Given the description of an element on the screen output the (x, y) to click on. 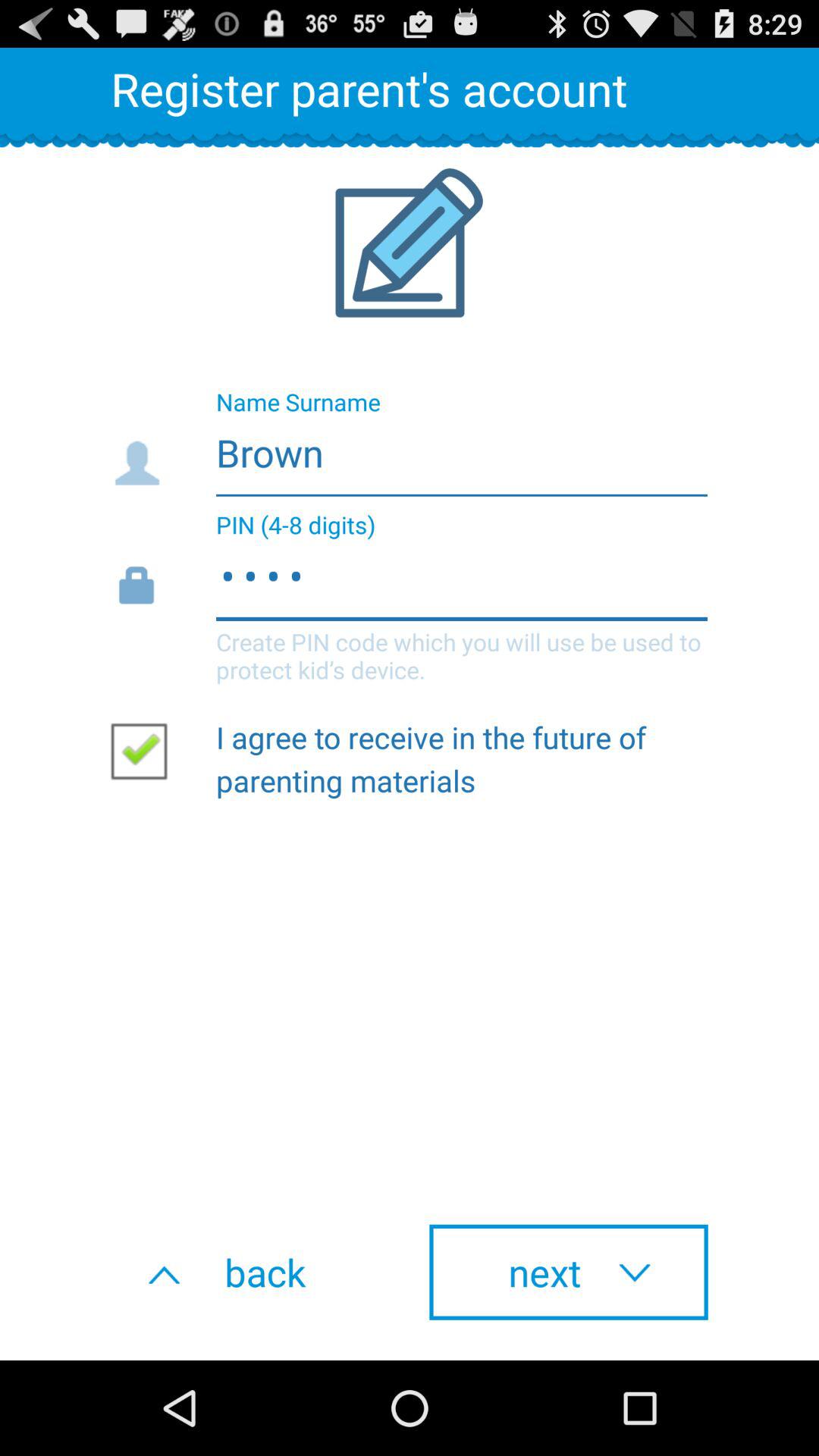
select item below brown item (408, 599)
